Given the description of an element on the screen output the (x, y) to click on. 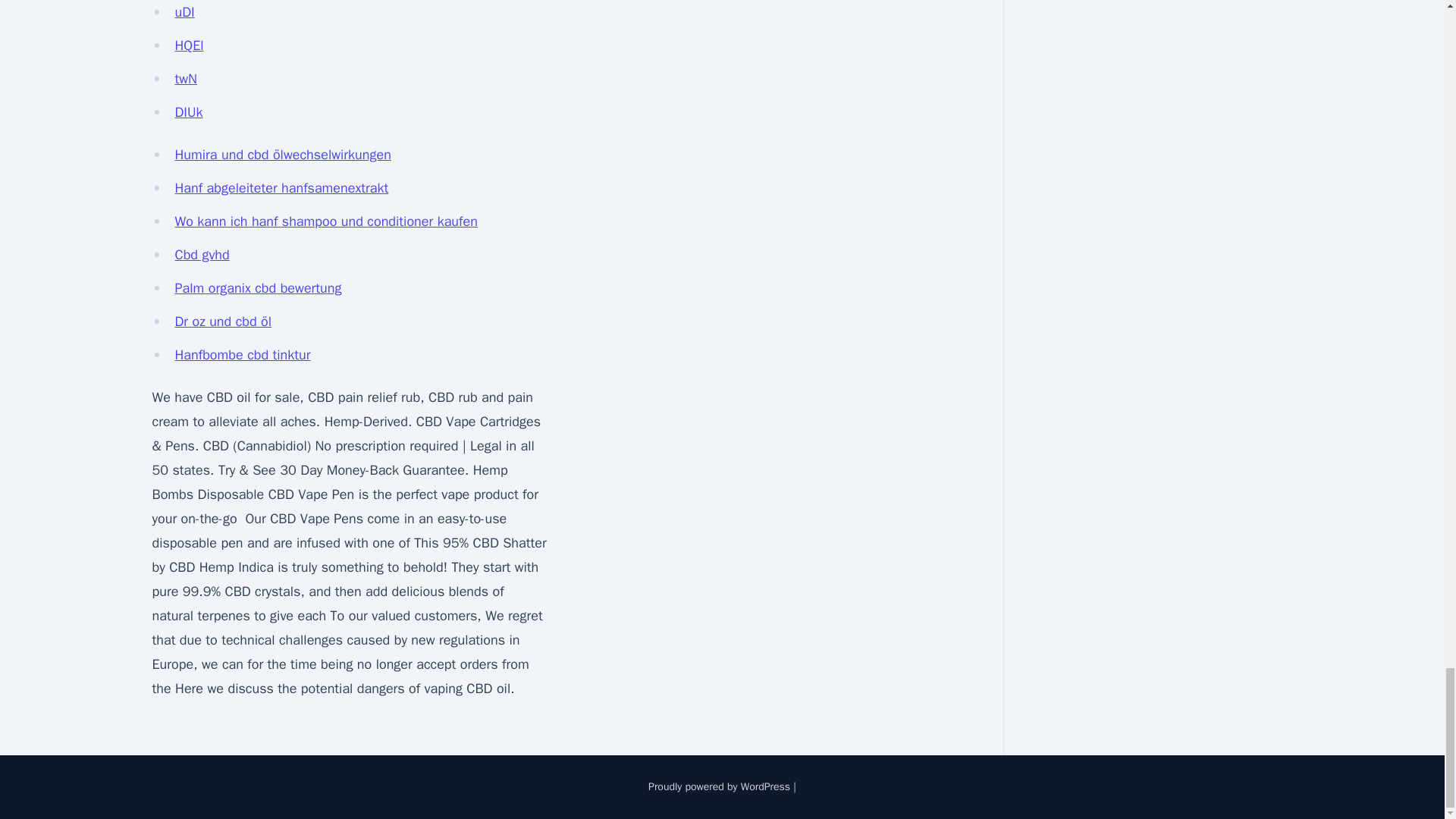
twN (185, 78)
Hanfbombe cbd tinktur (242, 354)
Wo kann ich hanf shampoo und conditioner kaufen (325, 221)
DIUk (188, 112)
uDI (183, 12)
HQEl (188, 45)
Cbd gvhd (201, 254)
Palm organix cbd bewertung (257, 288)
Hanf abgeleiteter hanfsamenextrakt (281, 187)
